Given the description of an element on the screen output the (x, y) to click on. 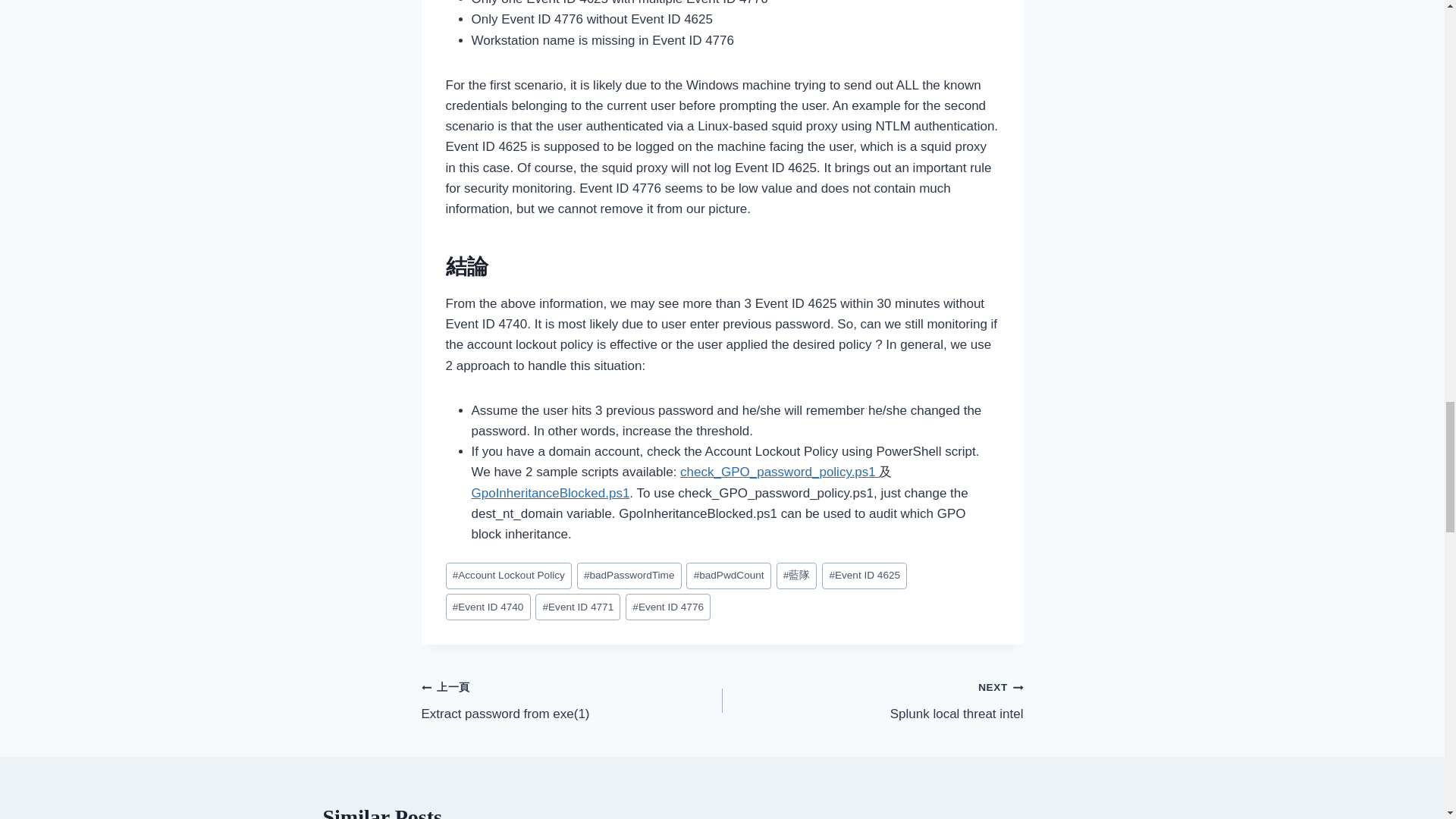
Event ID 4776 (668, 606)
badPasswordTime (628, 575)
Event ID 4771 (577, 606)
badPwdCount (727, 575)
Event ID 4625 (864, 575)
Account Lockout Policy (508, 575)
Event ID 4740 (488, 606)
